Given the description of an element on the screen output the (x, y) to click on. 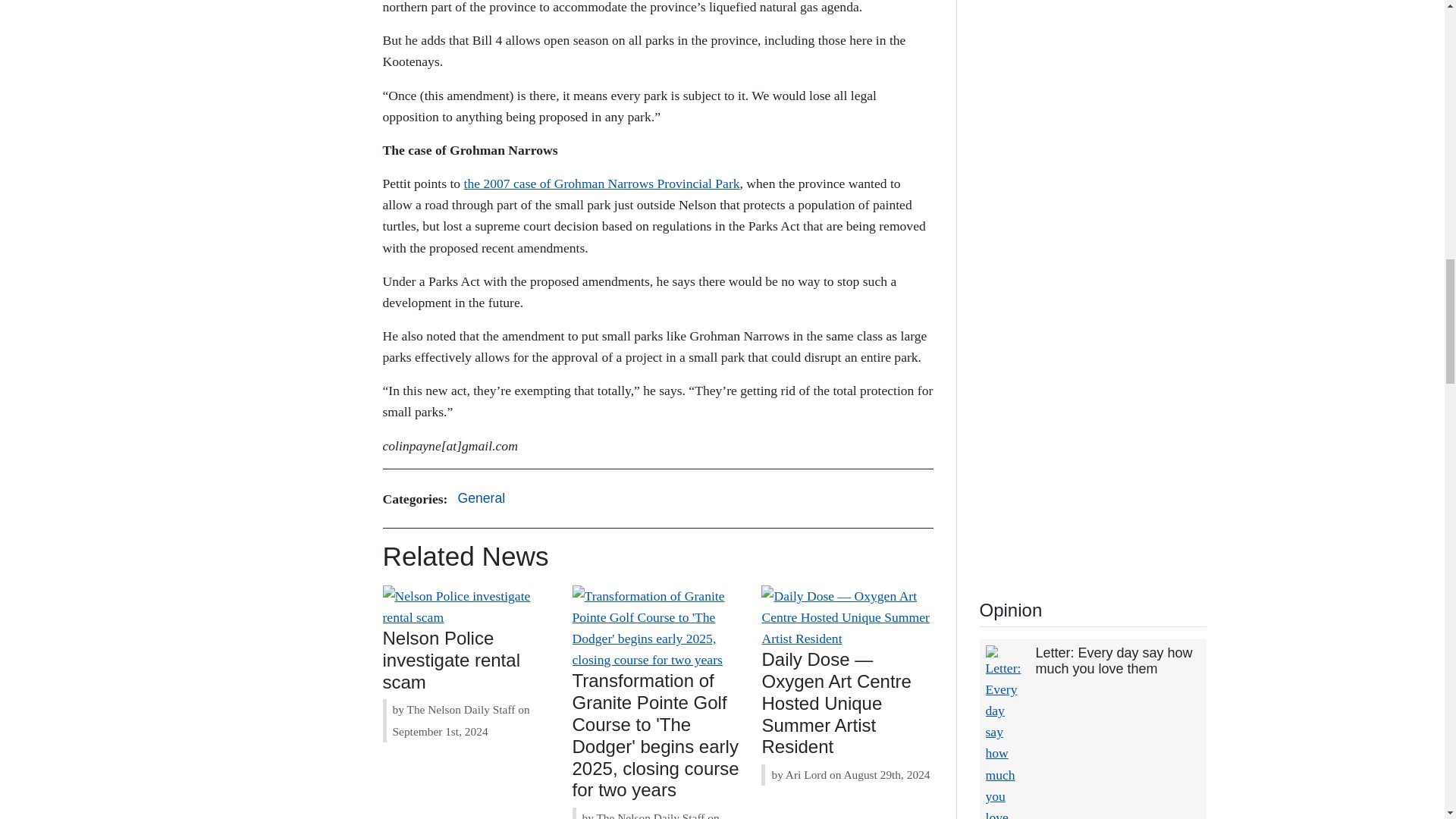
Nelson Police investigate rental scam (450, 660)
General (480, 498)
the 2007 case of Grohman Narrows Provincial Park (601, 183)
